Given the description of an element on the screen output the (x, y) to click on. 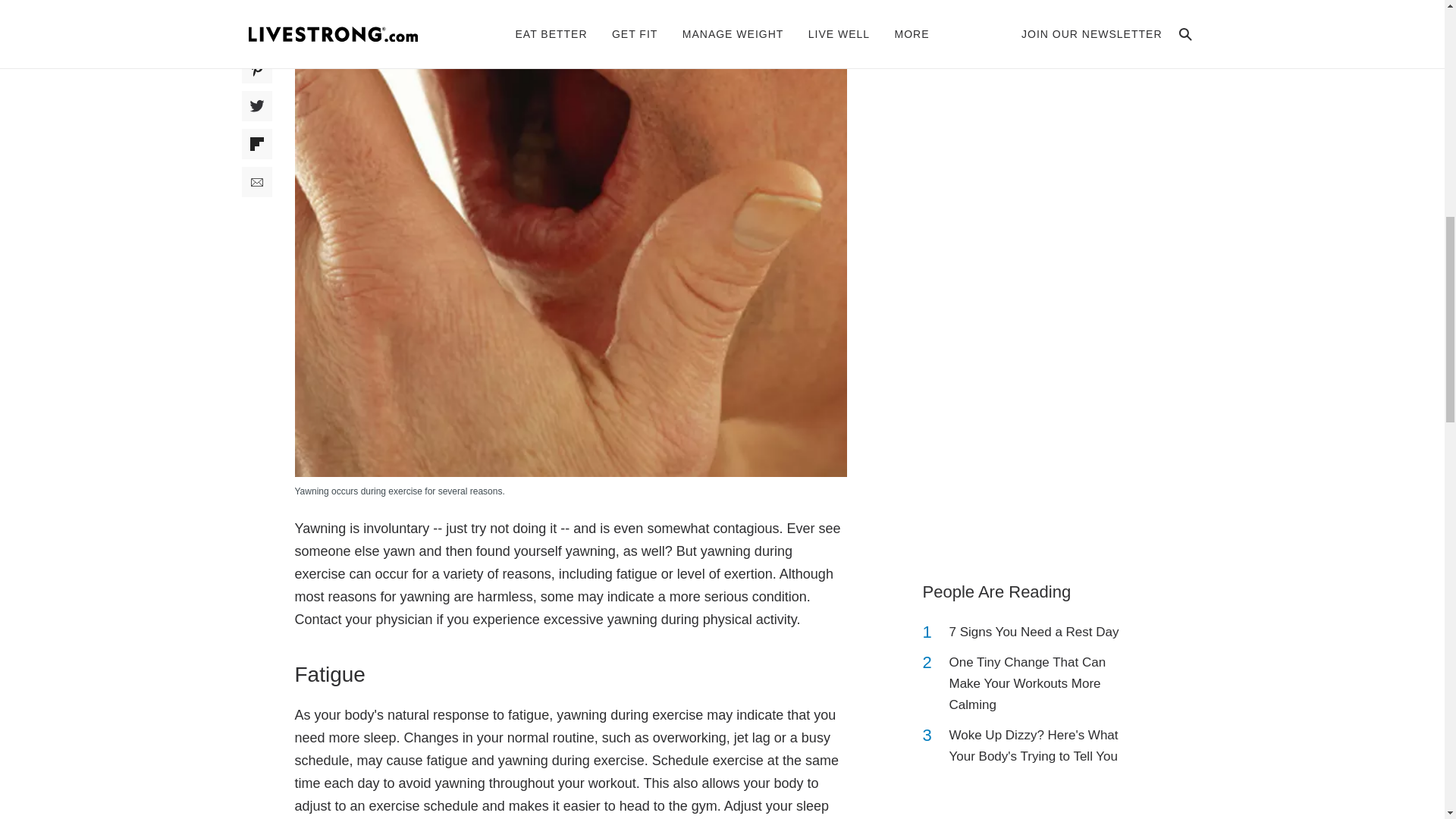
7 Signs You Need a Rest Day (1034, 631)
7 Signs You Need a Rest Day (1034, 631)
Woke Up Dizzy? Here's What Your Body's Trying to Tell You (1042, 745)
One Tiny Change That Can Make Your Workouts More Calming (1042, 683)
One Tiny Change That Can Make Your Workouts More Calming (1042, 683)
